Given the description of an element on the screen output the (x, y) to click on. 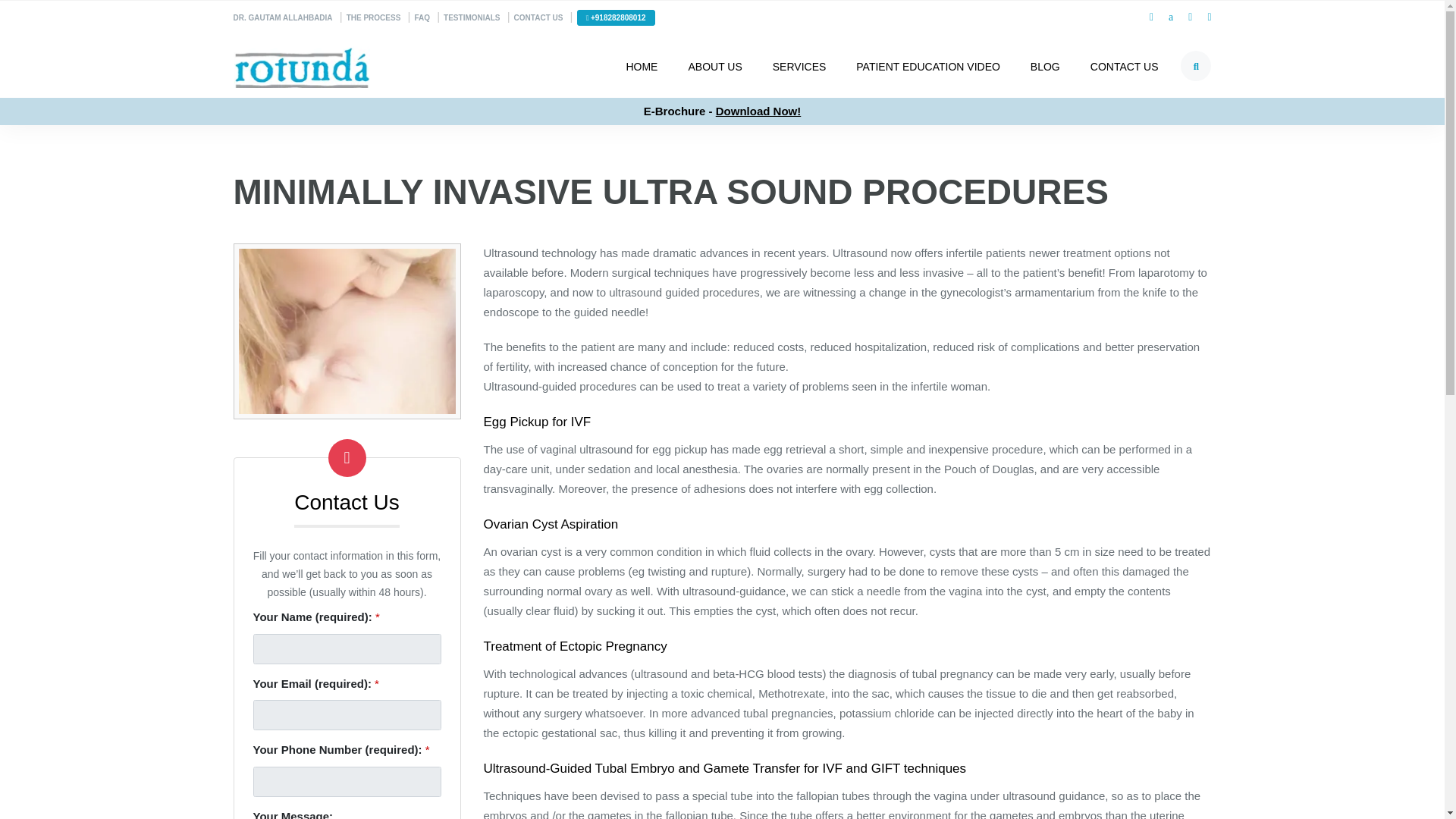
DR. GAUTAM ALLAHBADIA (282, 17)
Contact Us (538, 17)
Tap to Call (614, 17)
TESTIMONIALS (471, 17)
Dr. Gautam Allahbadia (282, 17)
FAQ (421, 17)
About Us (714, 65)
THE PROCESS (373, 17)
ABOUT US (714, 65)
Rotunda IVF (300, 65)
Testimonials (471, 17)
CONTACT US (538, 17)
SERVICES (799, 65)
The Process (373, 17)
FAQ (421, 17)
